Given the description of an element on the screen output the (x, y) to click on. 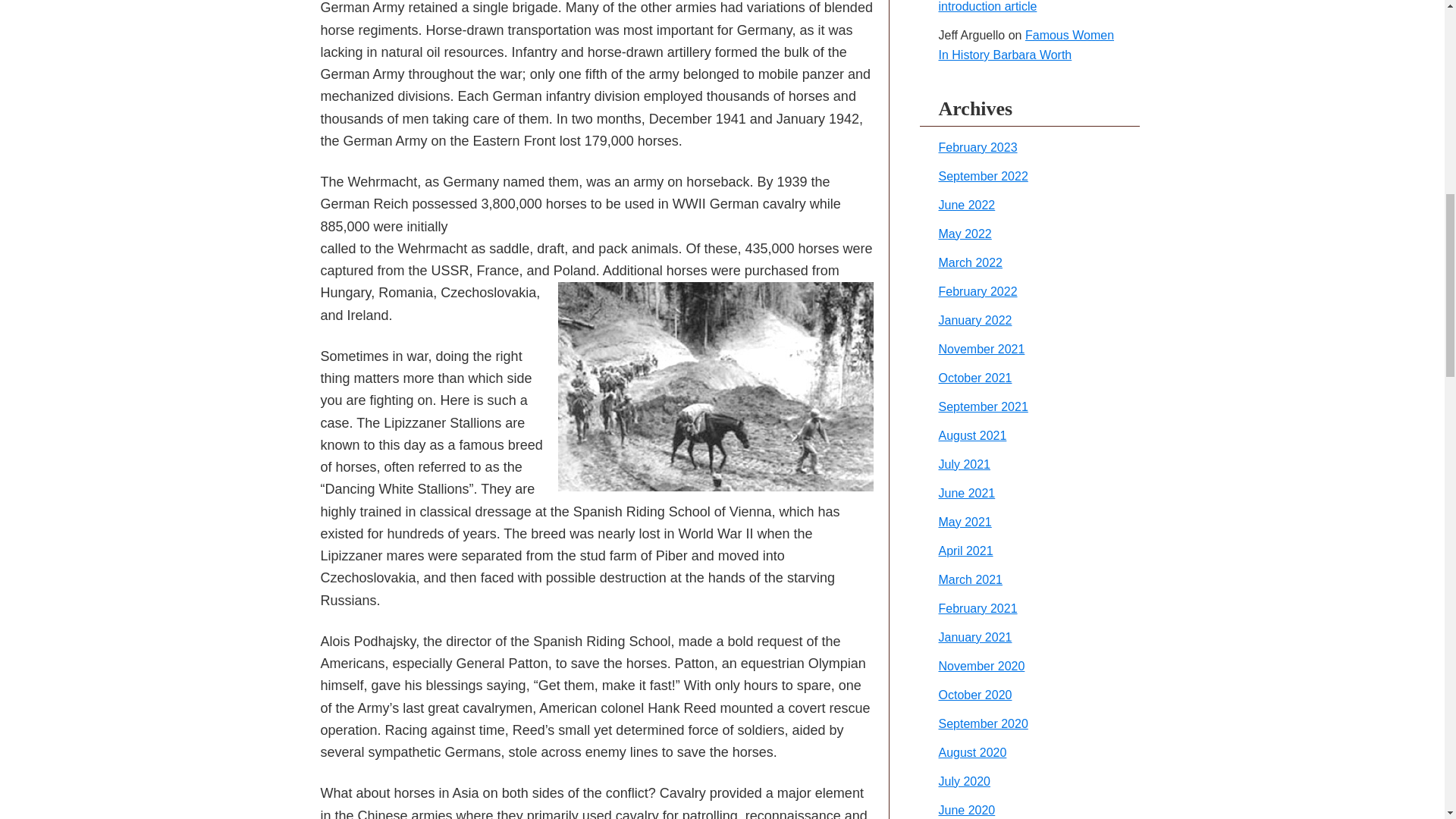
Famous Women In History Barbara Worth (1027, 44)
March 2022 (971, 262)
September 2022 (983, 175)
October 2021 (975, 377)
June 2022 (967, 205)
November 2021 (982, 349)
January 2022 (975, 319)
February 2023 (978, 146)
MDBarnmaster Barns introduction article (997, 6)
May 2022 (965, 233)
February 2022 (978, 291)
August 2021 (973, 435)
July 2021 (965, 463)
September 2021 (983, 406)
